Given the description of an element on the screen output the (x, y) to click on. 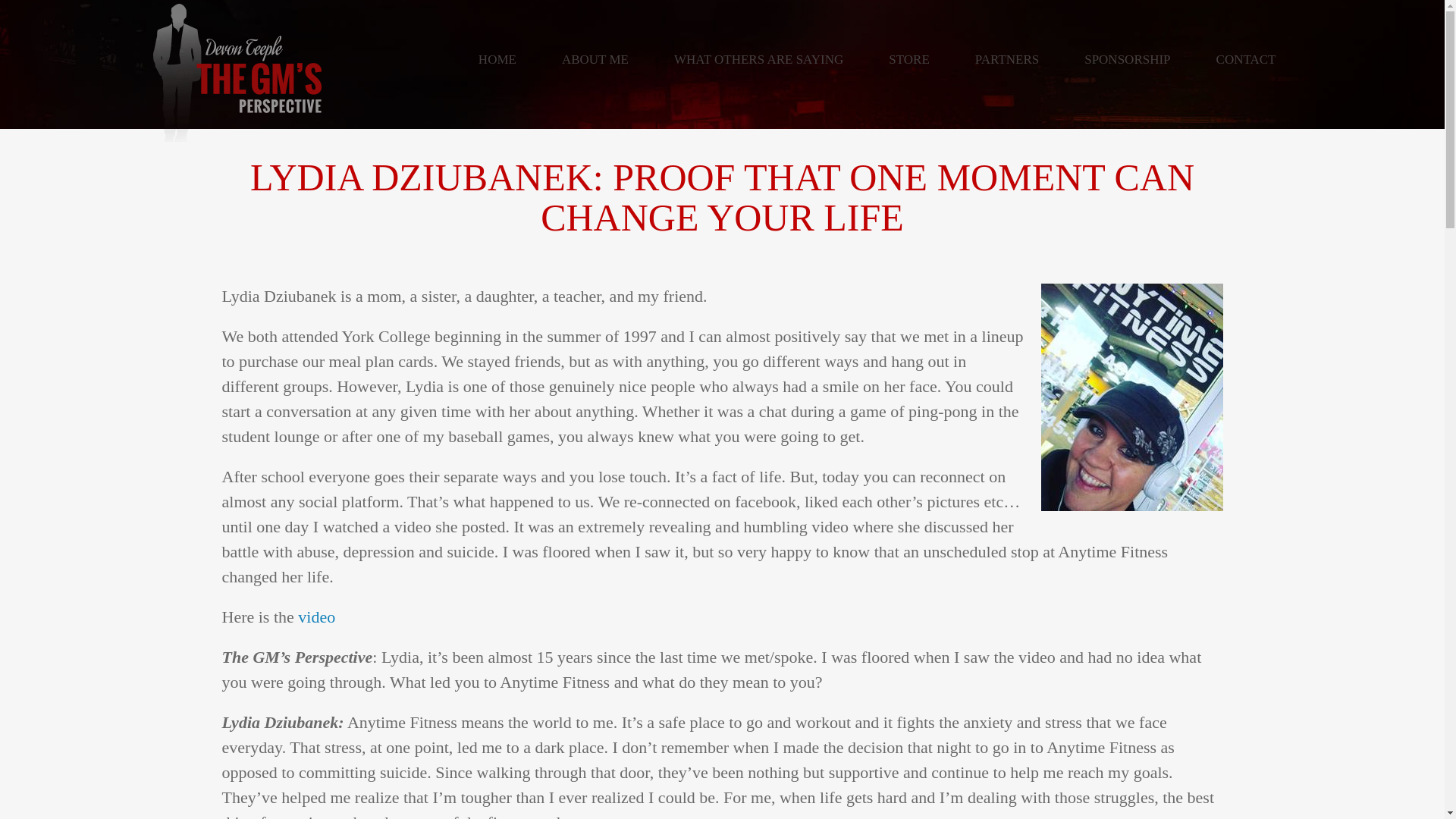
SPONSORSHIP (1126, 59)
CONTACT (1245, 59)
STORE (909, 59)
WHAT OTHERS ARE SAYING (758, 59)
 video (314, 616)
PARTNERS (1006, 59)
HOME (496, 59)
ABOUT ME (594, 59)
